Given the description of an element on the screen output the (x, y) to click on. 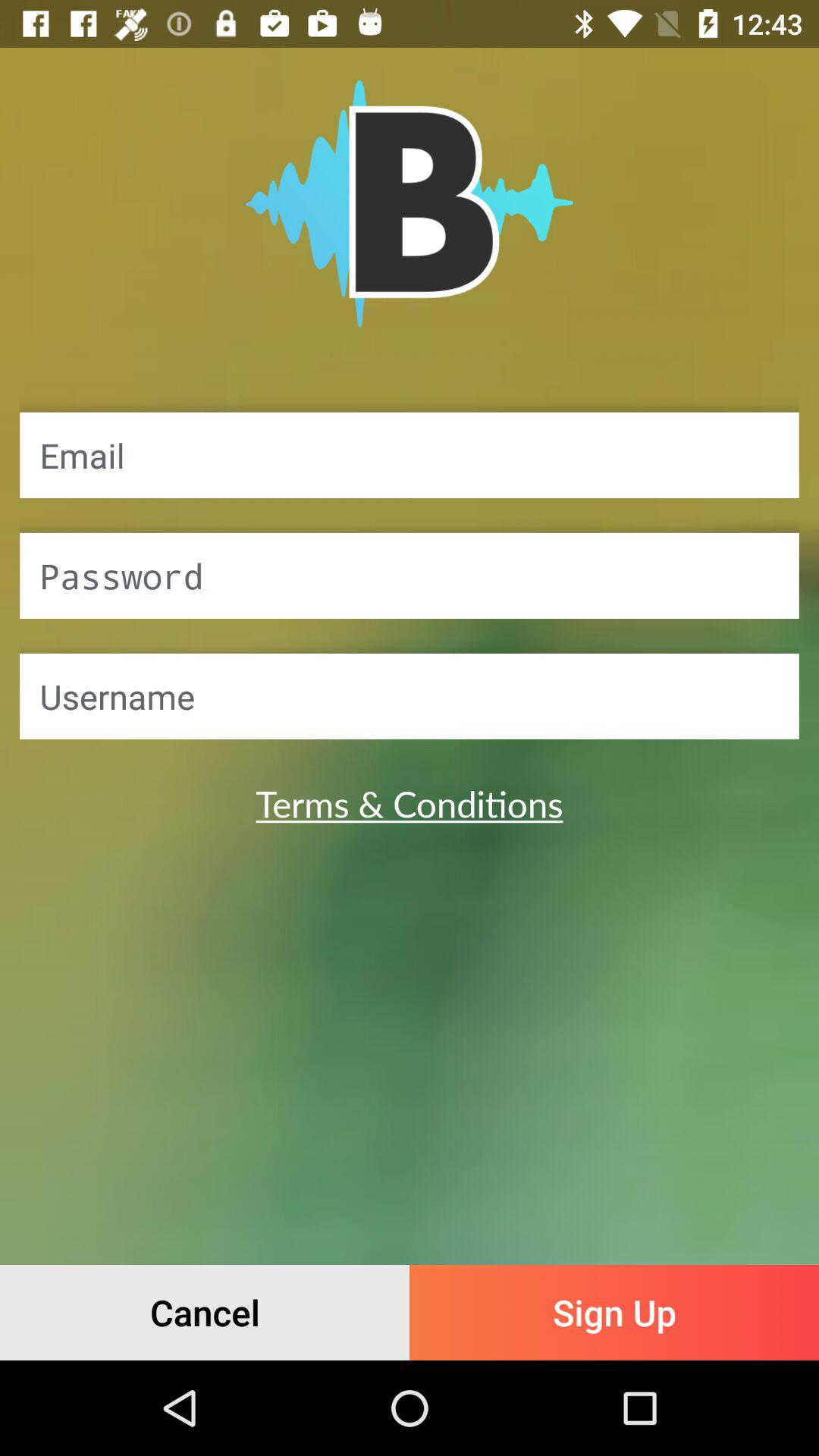
open the item below the terms & conditions item (204, 1312)
